Given the description of an element on the screen output the (x, y) to click on. 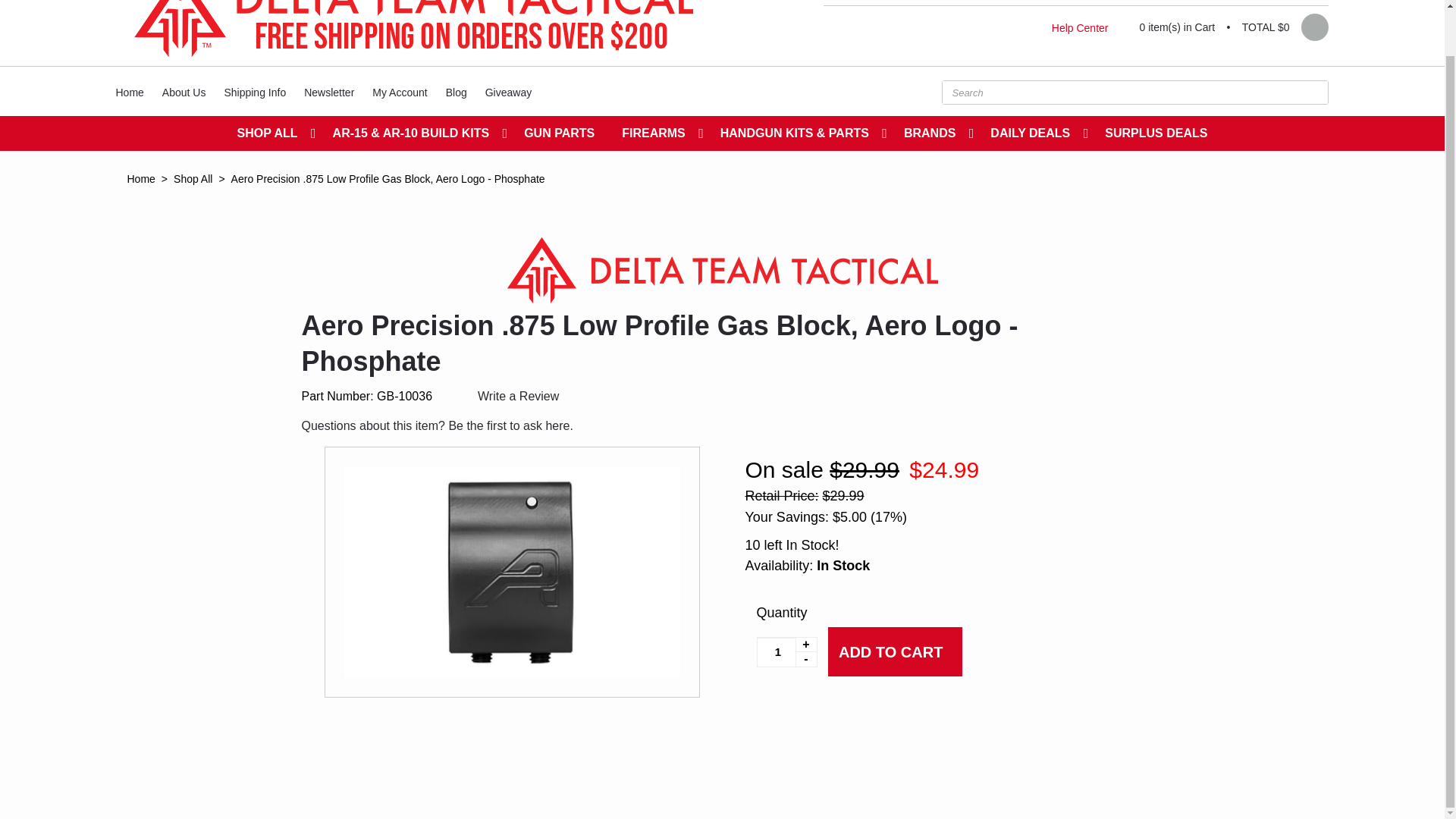
Help Center (1080, 27)
Shipping Info (254, 92)
SHOP ALL (271, 133)
SEARCH ICO (1312, 92)
Giveaway (508, 92)
1 (786, 652)
Newsletter (328, 92)
Home (129, 92)
My Account (398, 92)
About Us (183, 92)
